Given the description of an element on the screen output the (x, y) to click on. 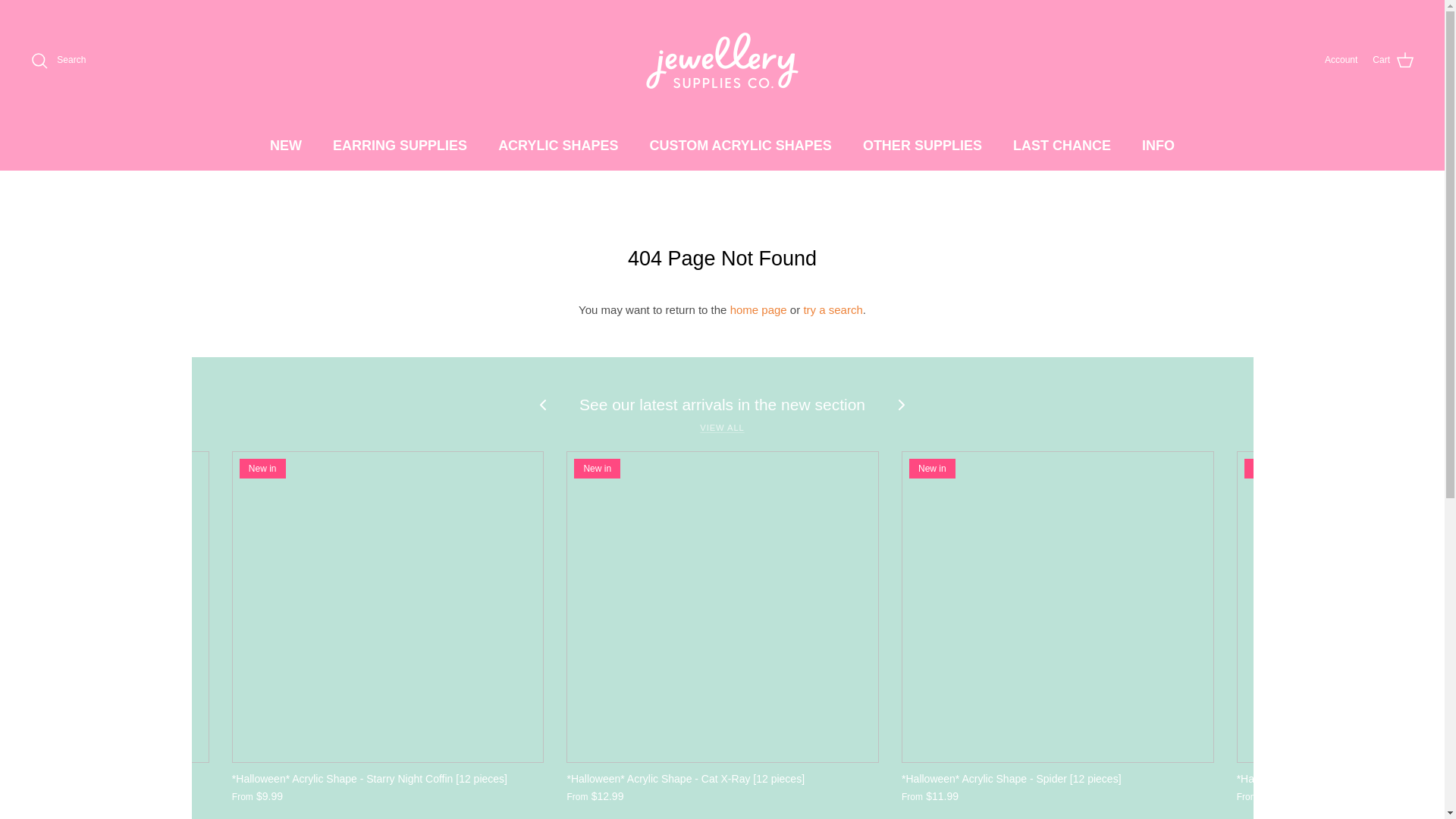
Cart (1393, 60)
ACRYLIC SHAPES (557, 145)
EARRING SUPPLIES (399, 145)
NEW (285, 145)
Jewellery Supplies Co (721, 60)
Search (57, 60)
Account (1340, 60)
